Given the description of an element on the screen output the (x, y) to click on. 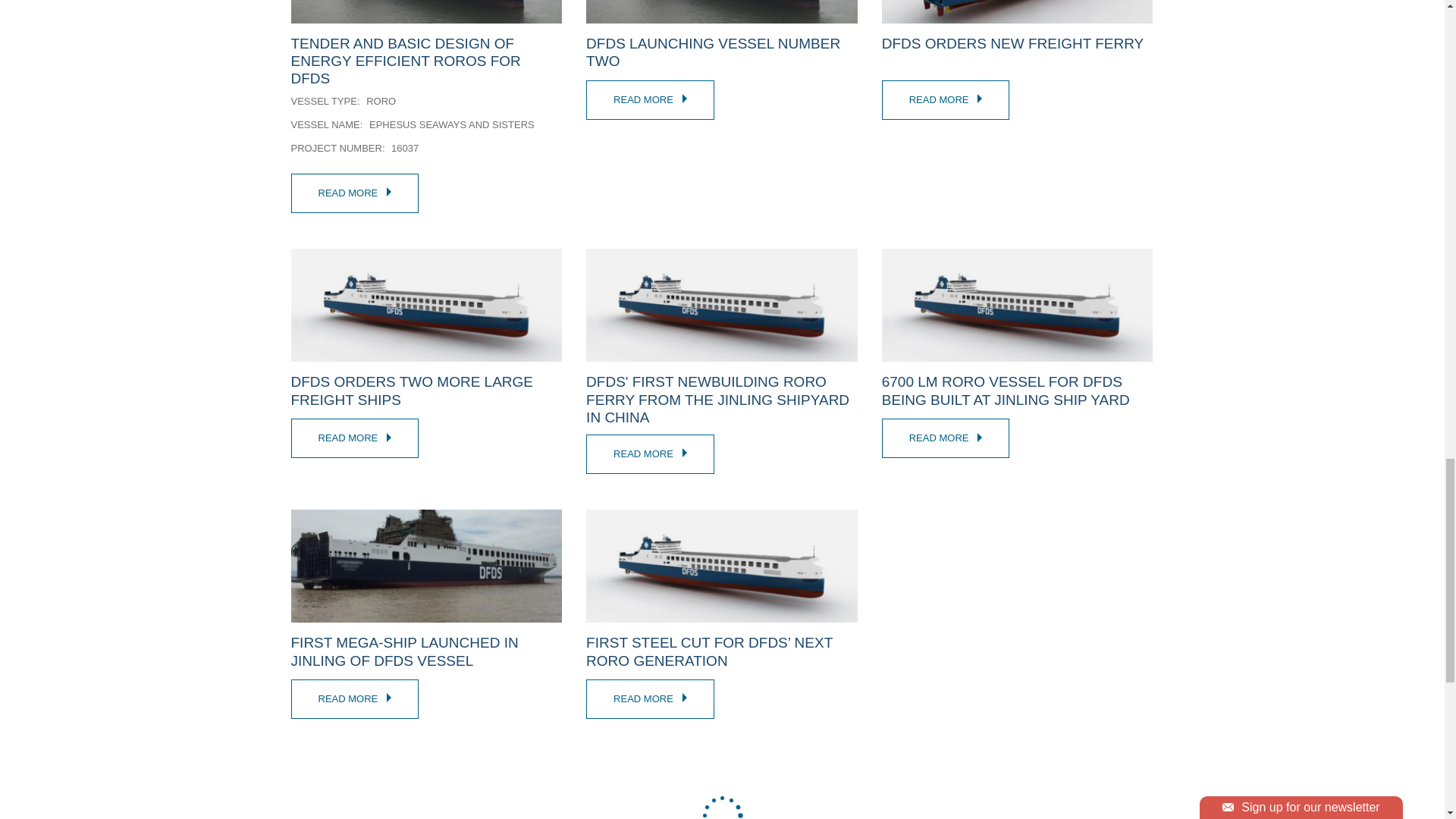
READ MORE (650, 99)
READ MORE (946, 99)
READ MORE (650, 453)
READ MORE (946, 437)
READ MORE (355, 437)
READ MORE (650, 699)
READ MORE (355, 192)
READ MORE (355, 699)
